Given the description of an element on the screen output the (x, y) to click on. 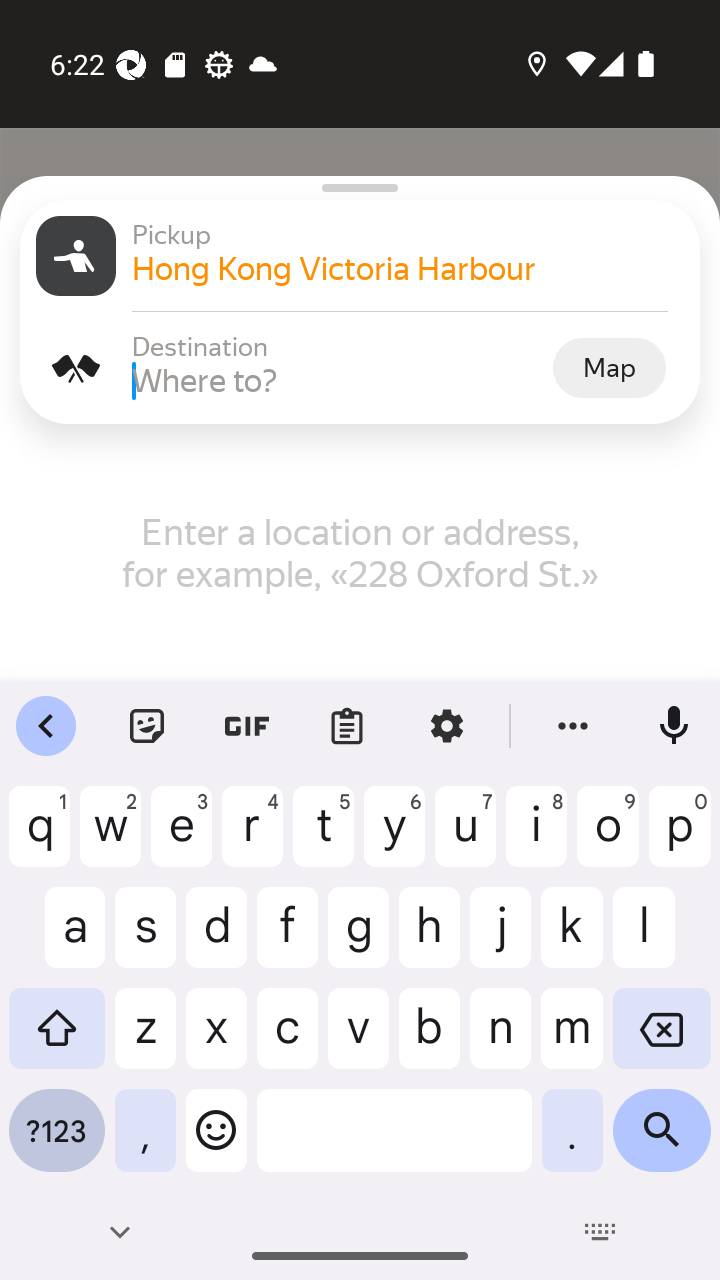
Pickup Pickup Hong Kong Victoria Harbour (359, 255)
Hong Kong Victoria Harbour (407, 268)
Destination Destination Where to? Map (359, 367)
Map (609, 367)
Where to? (340, 380)
